Given the description of an element on the screen output the (x, y) to click on. 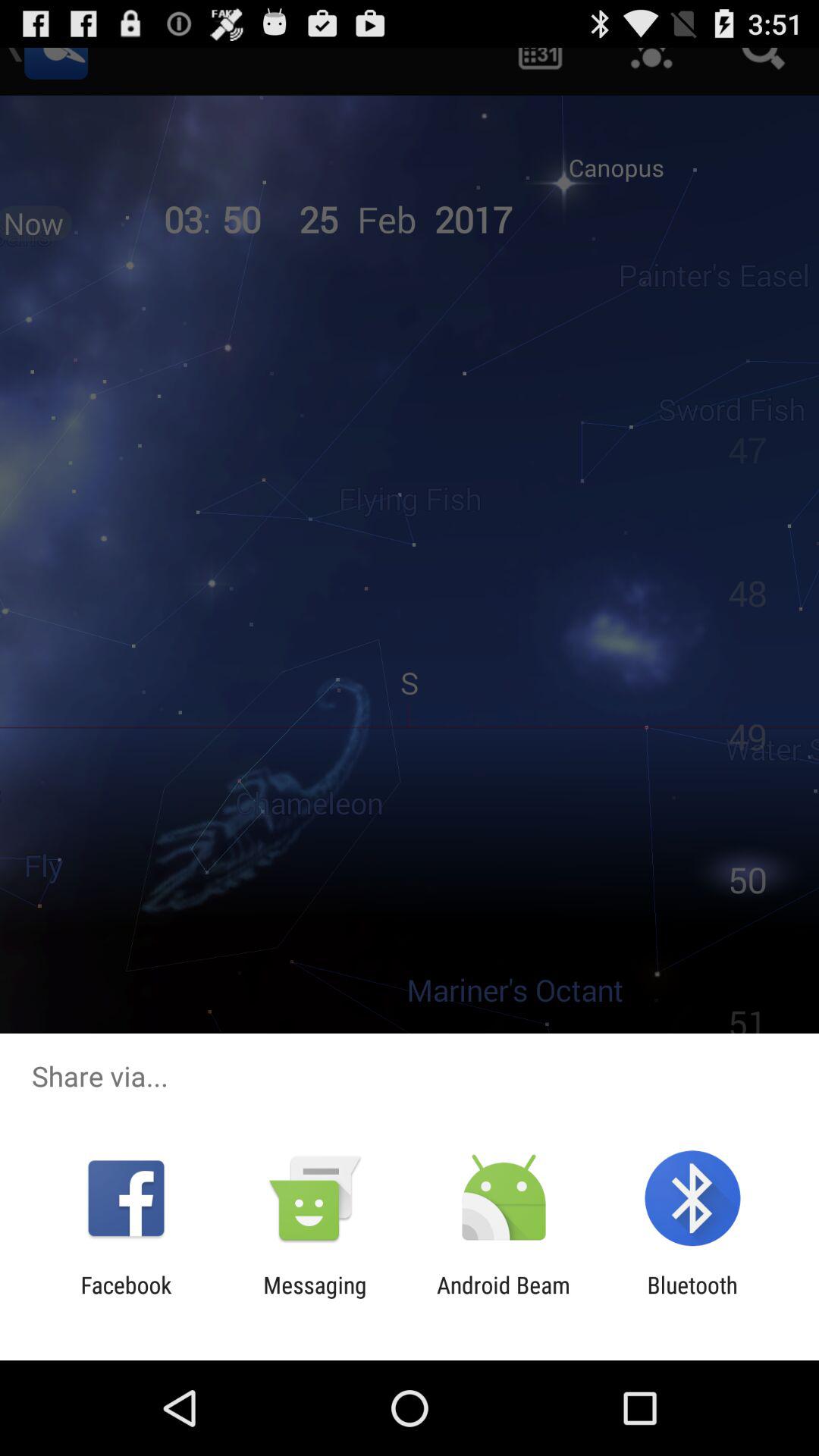
turn on item next to the facebook app (314, 1298)
